Given the description of an element on the screen output the (x, y) to click on. 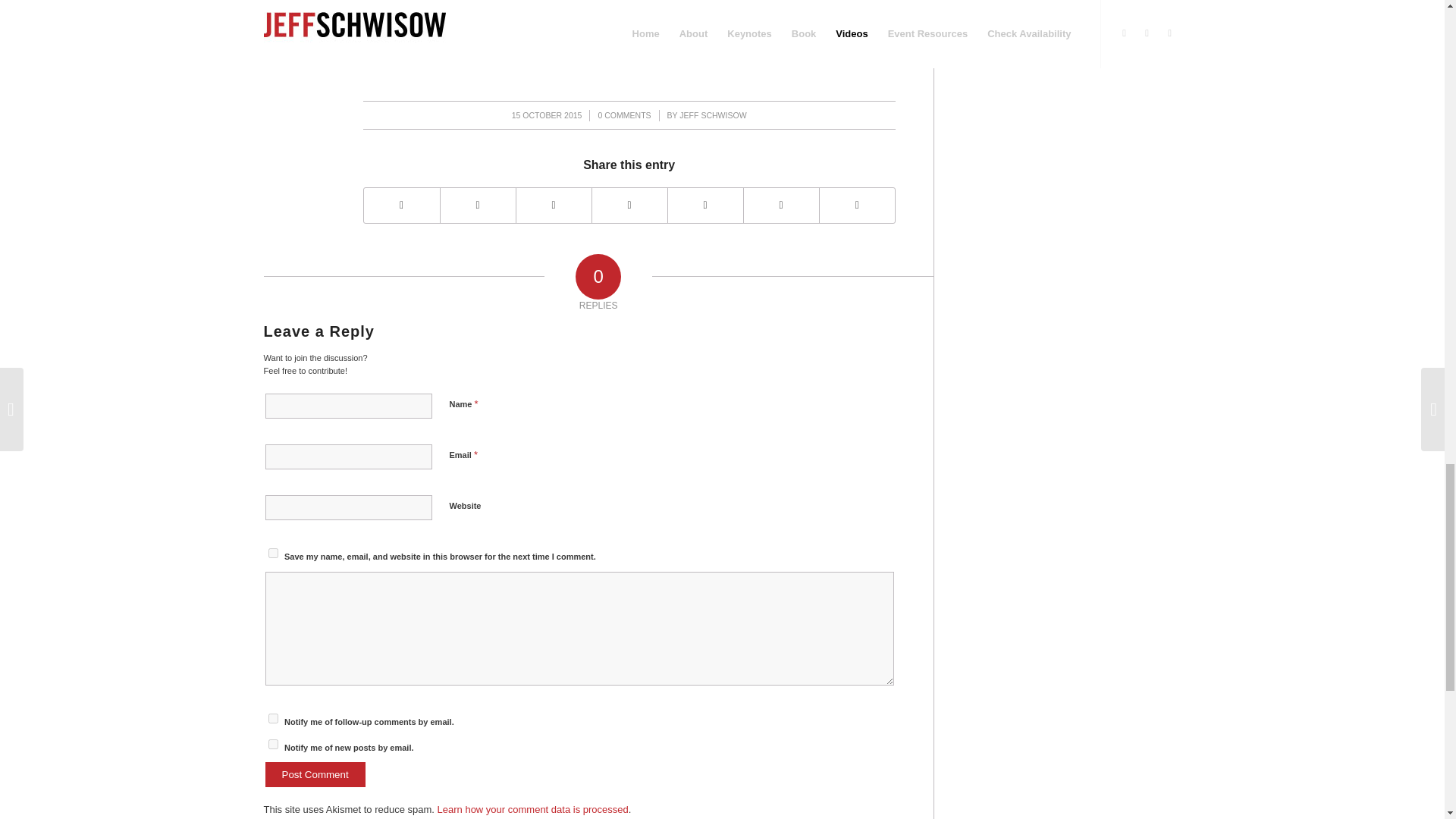
subscribe (272, 718)
Click to share on LinkedIn (374, 43)
Learn how your comment data is processed (533, 808)
Click to share on Pocket (464, 43)
Post Comment (314, 774)
0 COMMENTS (623, 114)
Post Comment (314, 774)
subscribe (272, 744)
yes (272, 552)
JEFF SCHWISOW (712, 114)
